Given the description of an element on the screen output the (x, y) to click on. 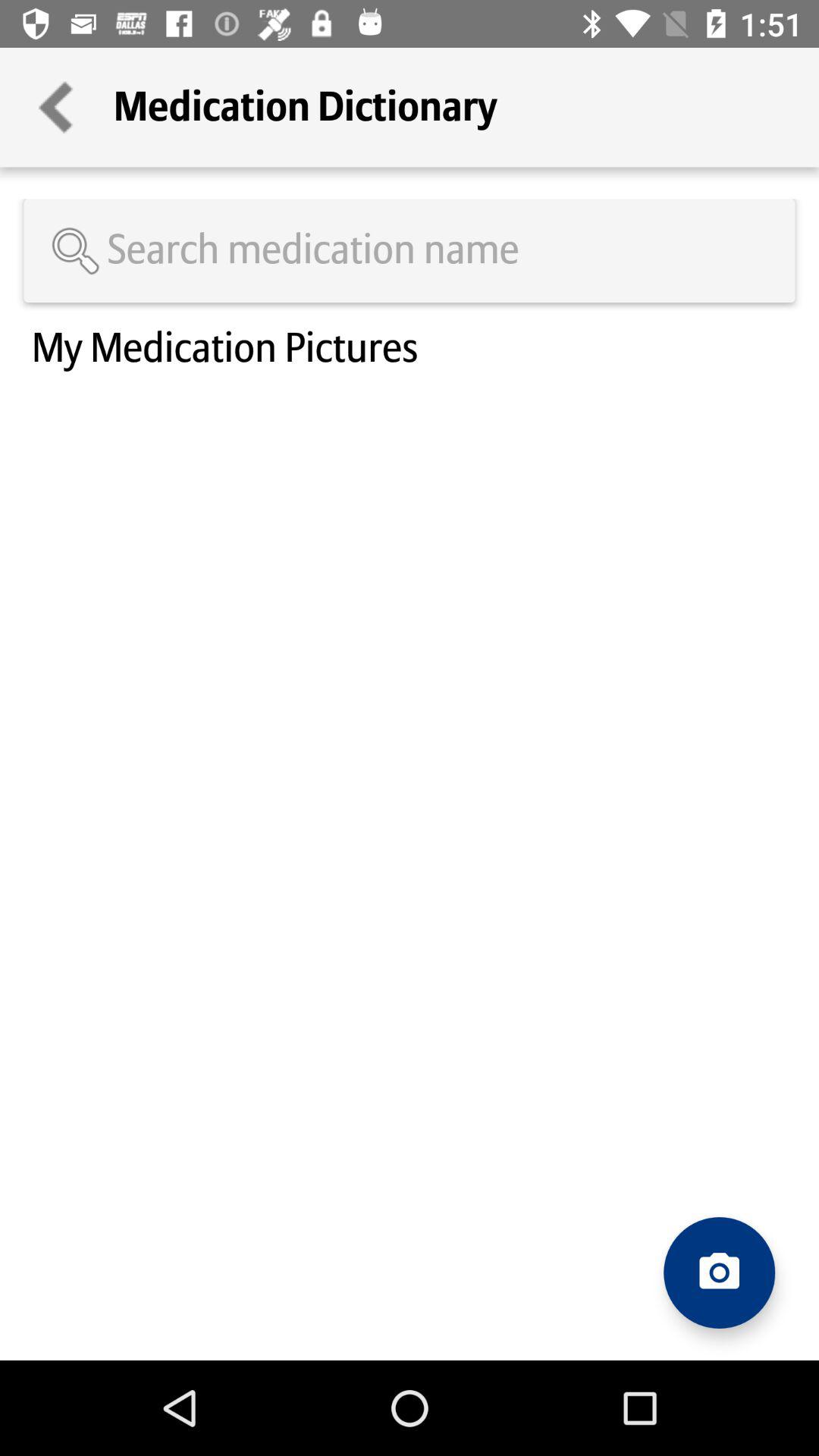
take a picture (719, 1272)
